Given the description of an element on the screen output the (x, y) to click on. 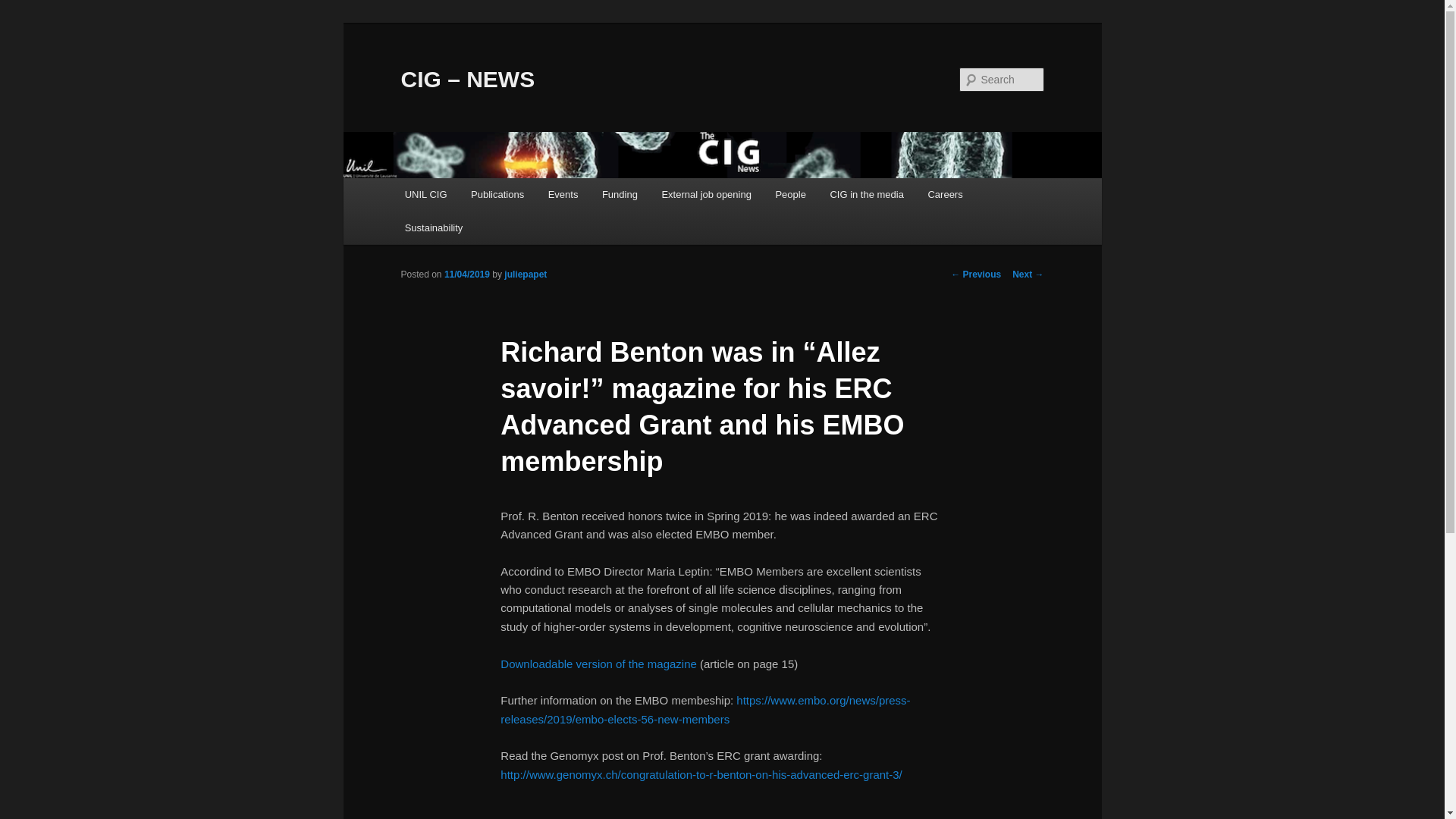
UNIL CIG (425, 194)
CIG in the media (866, 194)
External job opening (705, 194)
Careers (945, 194)
Search (24, 8)
Publications (496, 194)
Events (562, 194)
Sustainability (433, 227)
People (790, 194)
View all posts by juliepapet (525, 274)
